Given the description of an element on the screen output the (x, y) to click on. 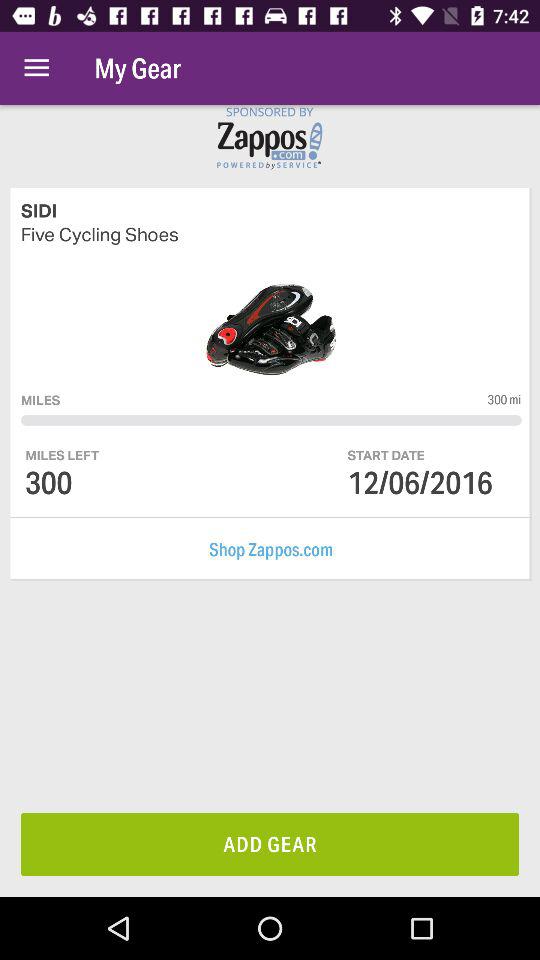
launch the five cycling shoes icon (271, 233)
